Given the description of an element on the screen output the (x, y) to click on. 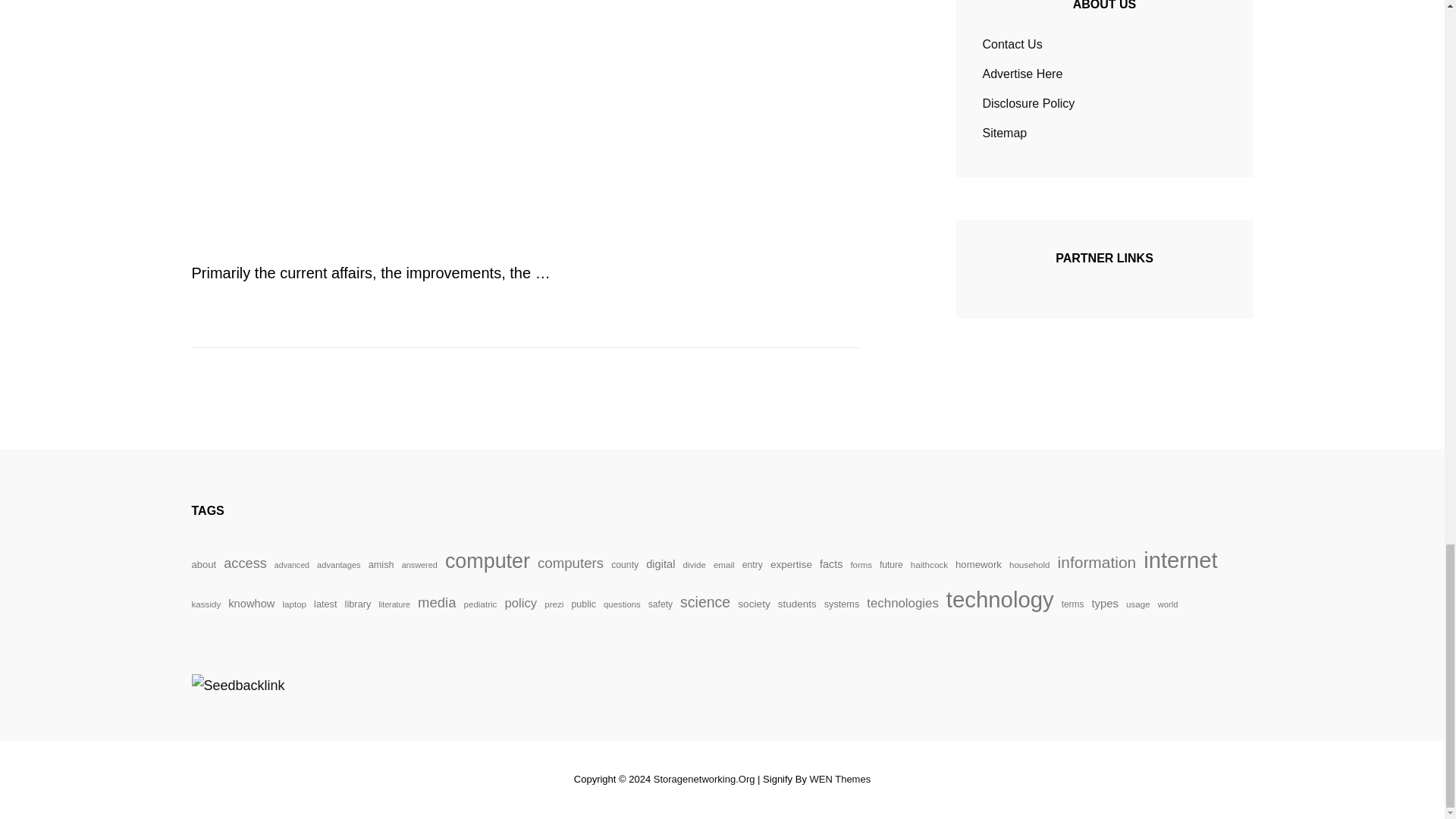
Seedbacklink (236, 686)
